Given the description of an element on the screen output the (x, y) to click on. 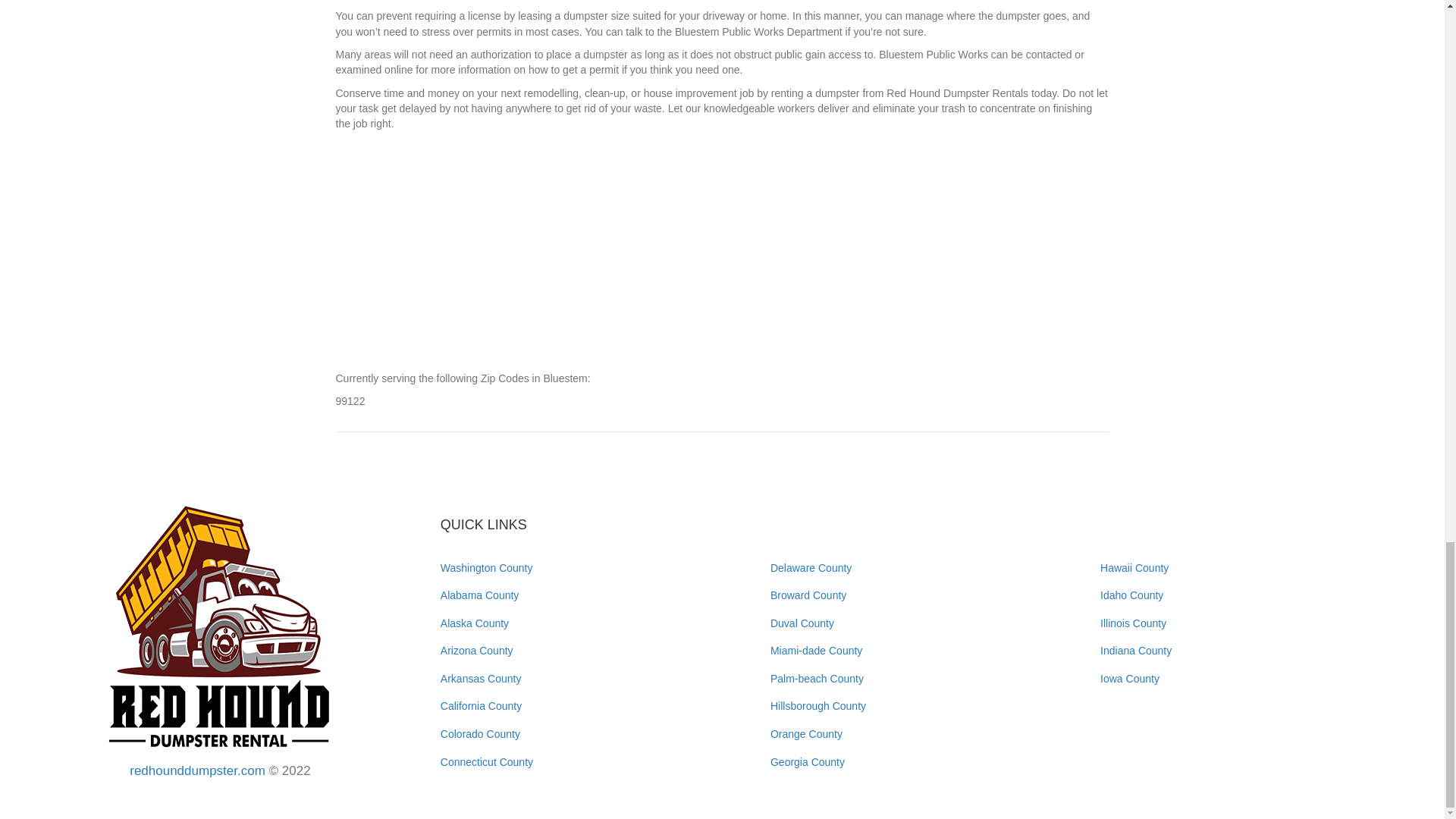
redhounddumpster (219, 627)
Washington County (486, 567)
redhounddumpster.com (196, 770)
Alabama County (480, 594)
